Given the description of an element on the screen output the (x, y) to click on. 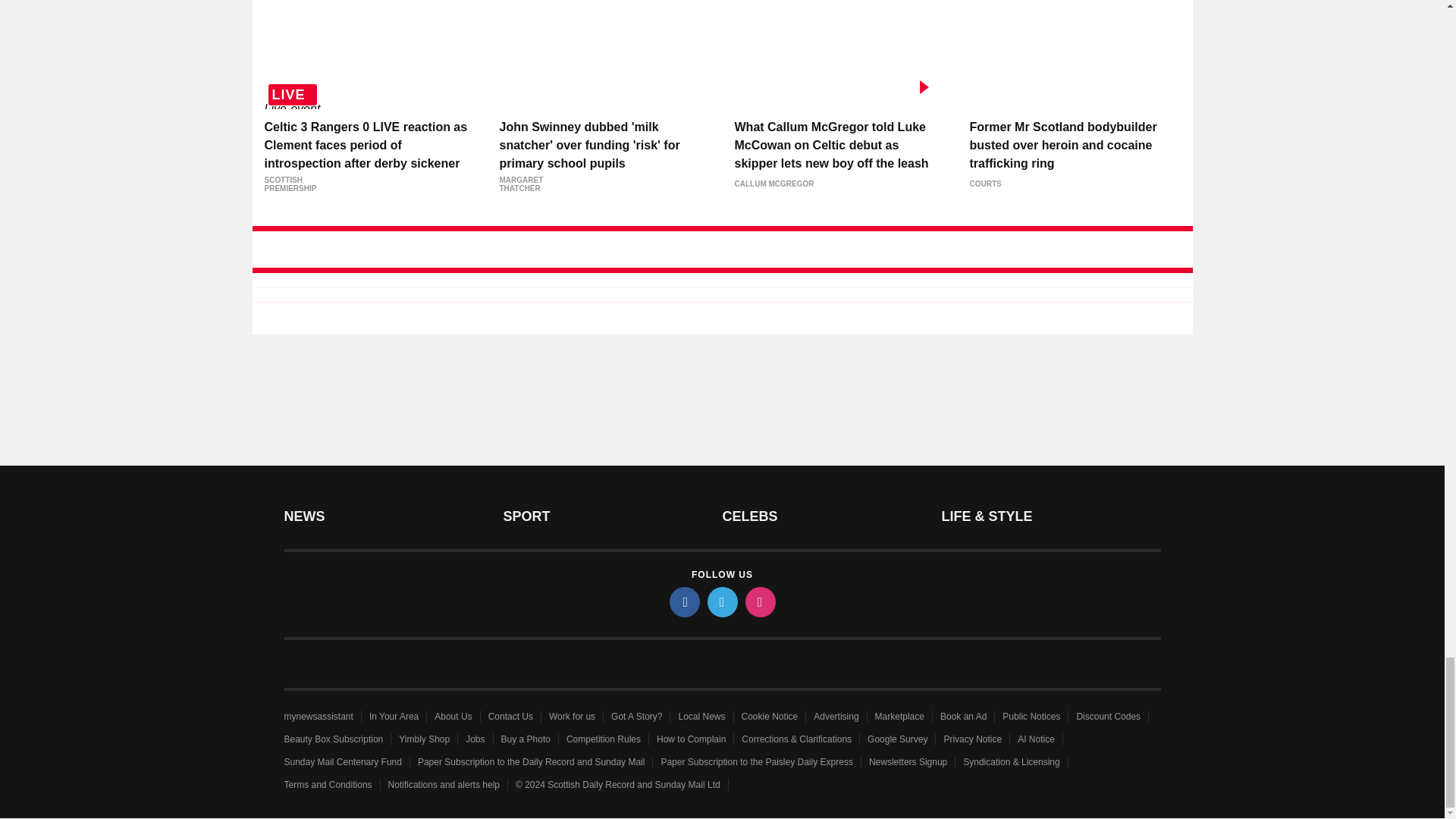
twitter (721, 602)
instagram (759, 602)
facebook (683, 602)
